Given the description of an element on the screen output the (x, y) to click on. 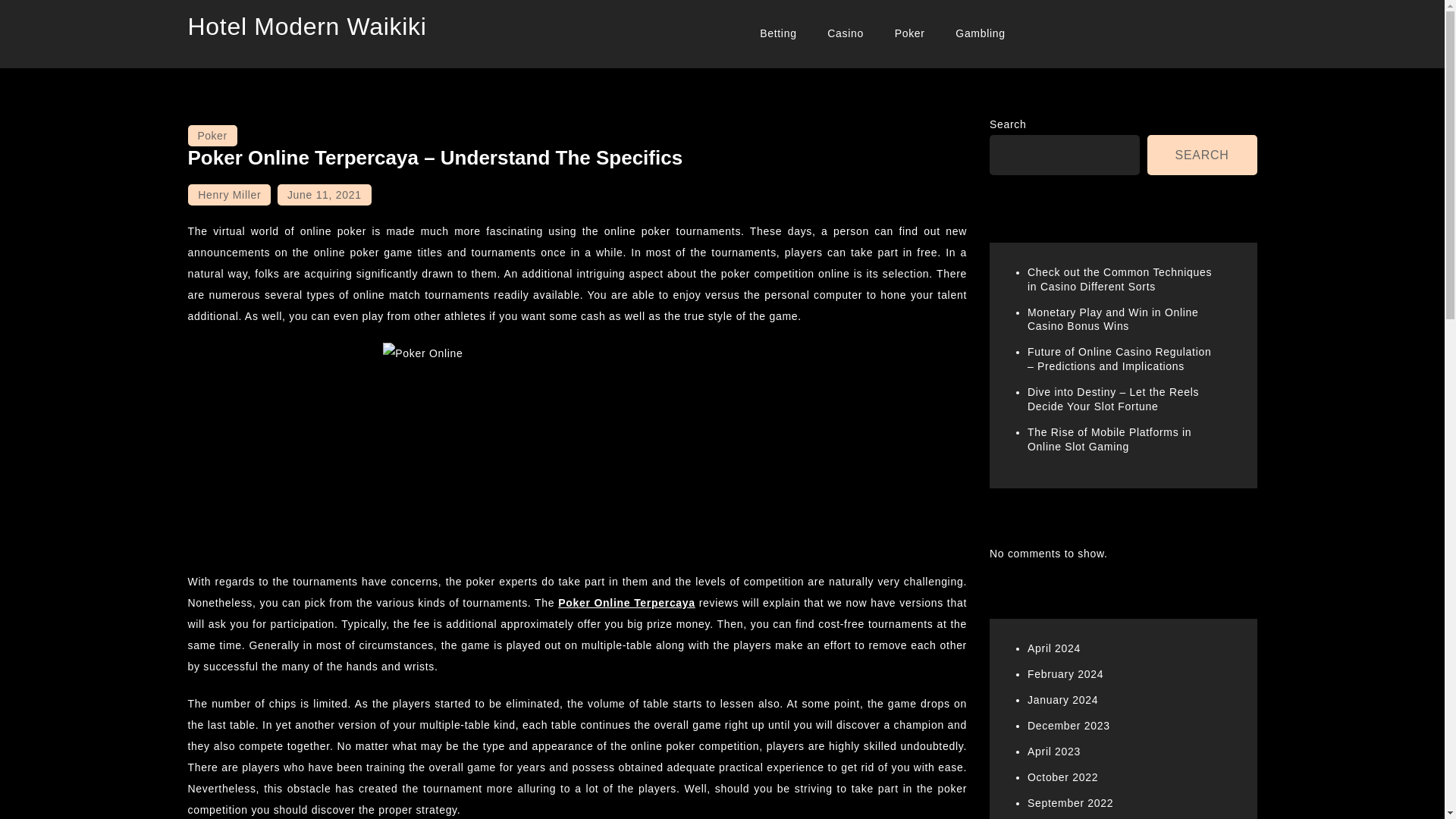
April 2023 (1053, 751)
Hotel Modern Waikiki (306, 26)
October 2022 (1062, 776)
January 2024 (1062, 699)
SEARCH (1202, 155)
Monetary Play and Win in Online Casino Bonus Wins (1112, 319)
September 2022 (1070, 802)
Poker Online Terpercaya (626, 603)
February 2024 (1065, 674)
Betting (777, 33)
Casino (845, 33)
June 11, 2021 (324, 194)
Poker (212, 135)
The Rise of Mobile Platforms in Online Slot Gaming (1109, 438)
Gambling (980, 33)
